Given the description of an element on the screen output the (x, y) to click on. 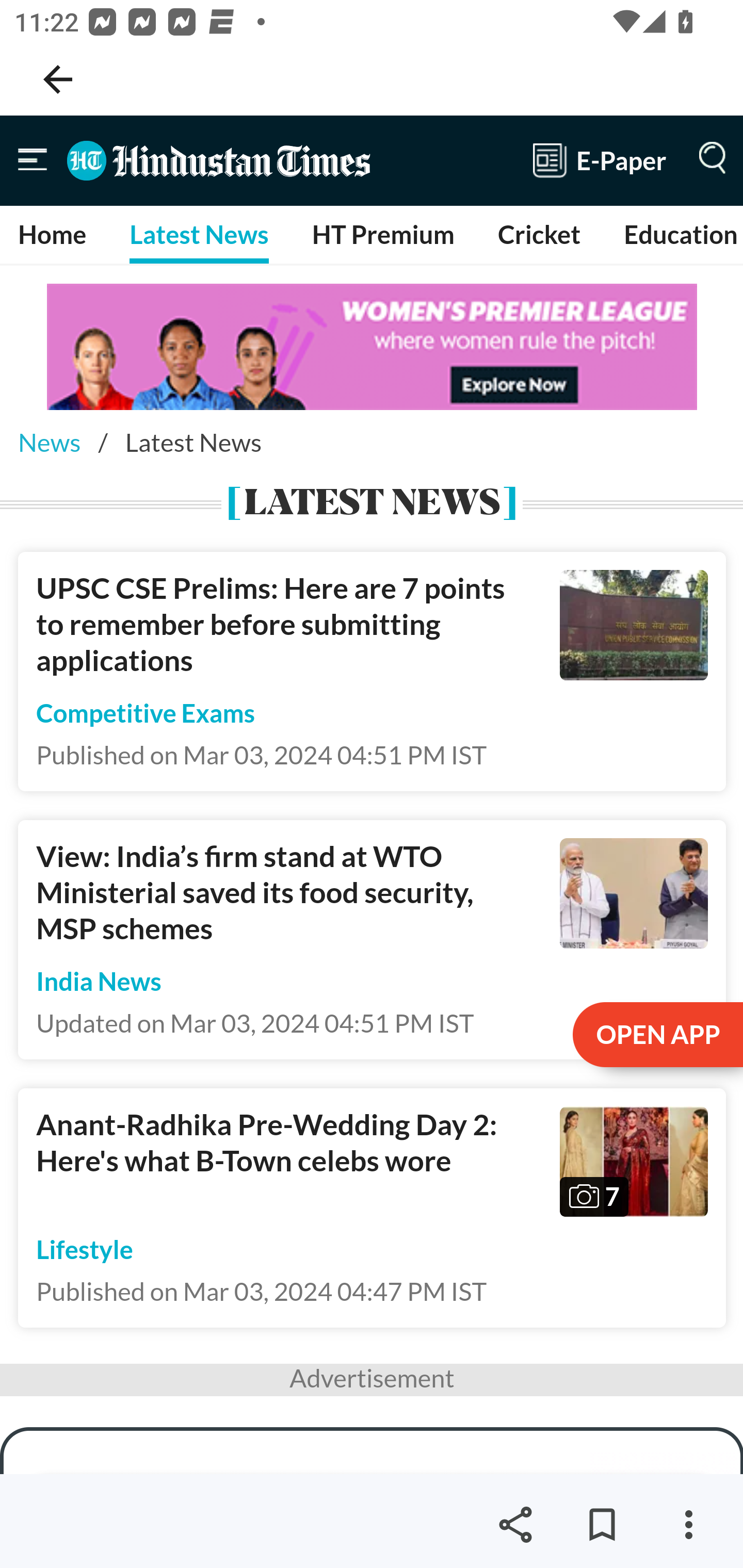
Navigate up (57, 79)
Menu Menu Menu Menu (708, 159)
E-Paper E-Paper E-Paper E-Paper E-Paper (599, 160)
Menu Menu (32, 160)
Home (52, 233)
Latest News (197, 233)
HT Premium (382, 233)
Cricket (538, 233)
Education (680, 233)
News (48, 441)
Competitive Exams (146, 712)
India News (99, 981)
OPEN APP (656, 1035)
7 (634, 1161)
Lifestyle (84, 1248)
Share (514, 1524)
Save for later (601, 1524)
More options (688, 1524)
